Given the description of an element on the screen output the (x, y) to click on. 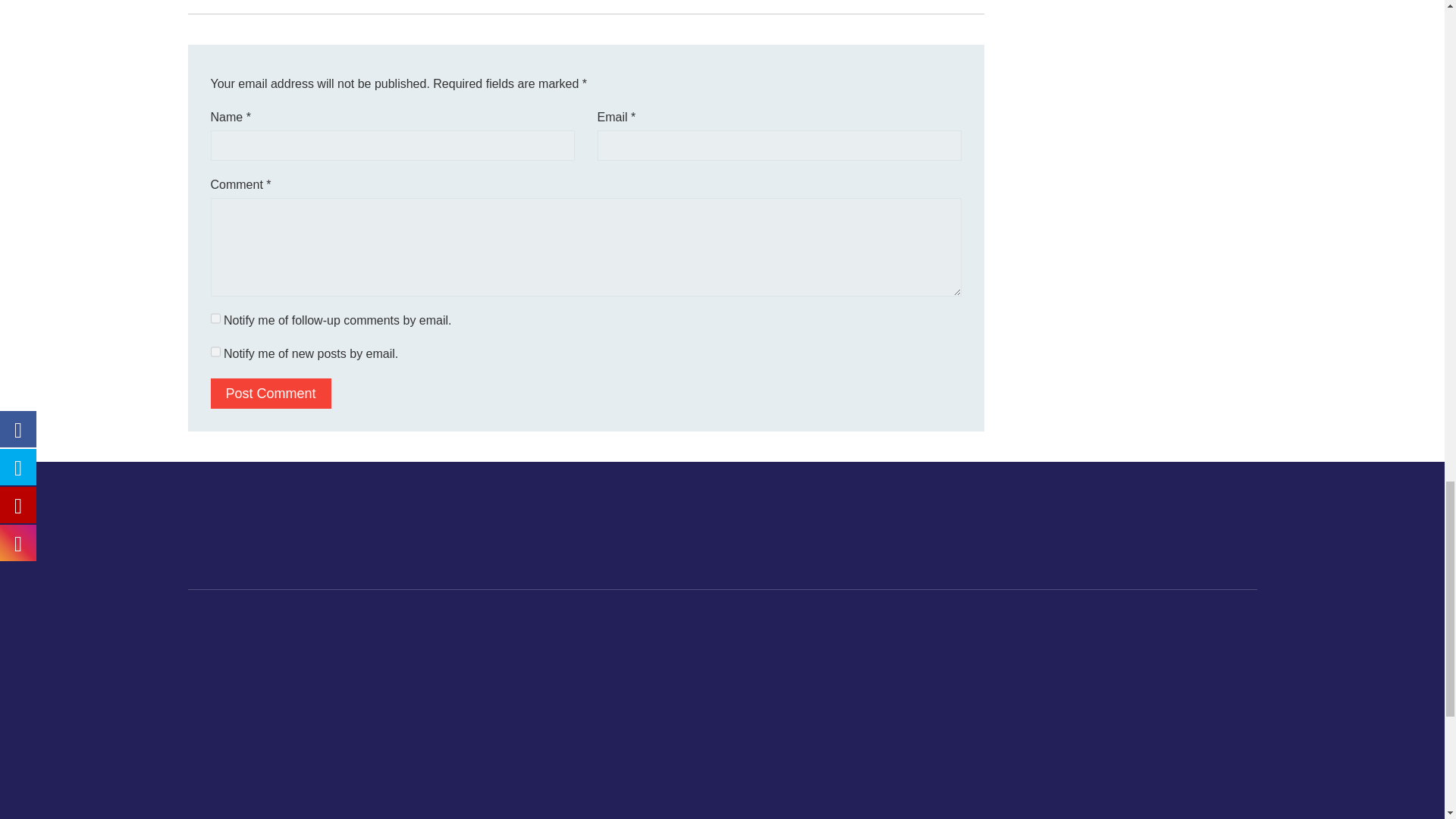
Post Comment (271, 393)
